Given the description of an element on the screen output the (x, y) to click on. 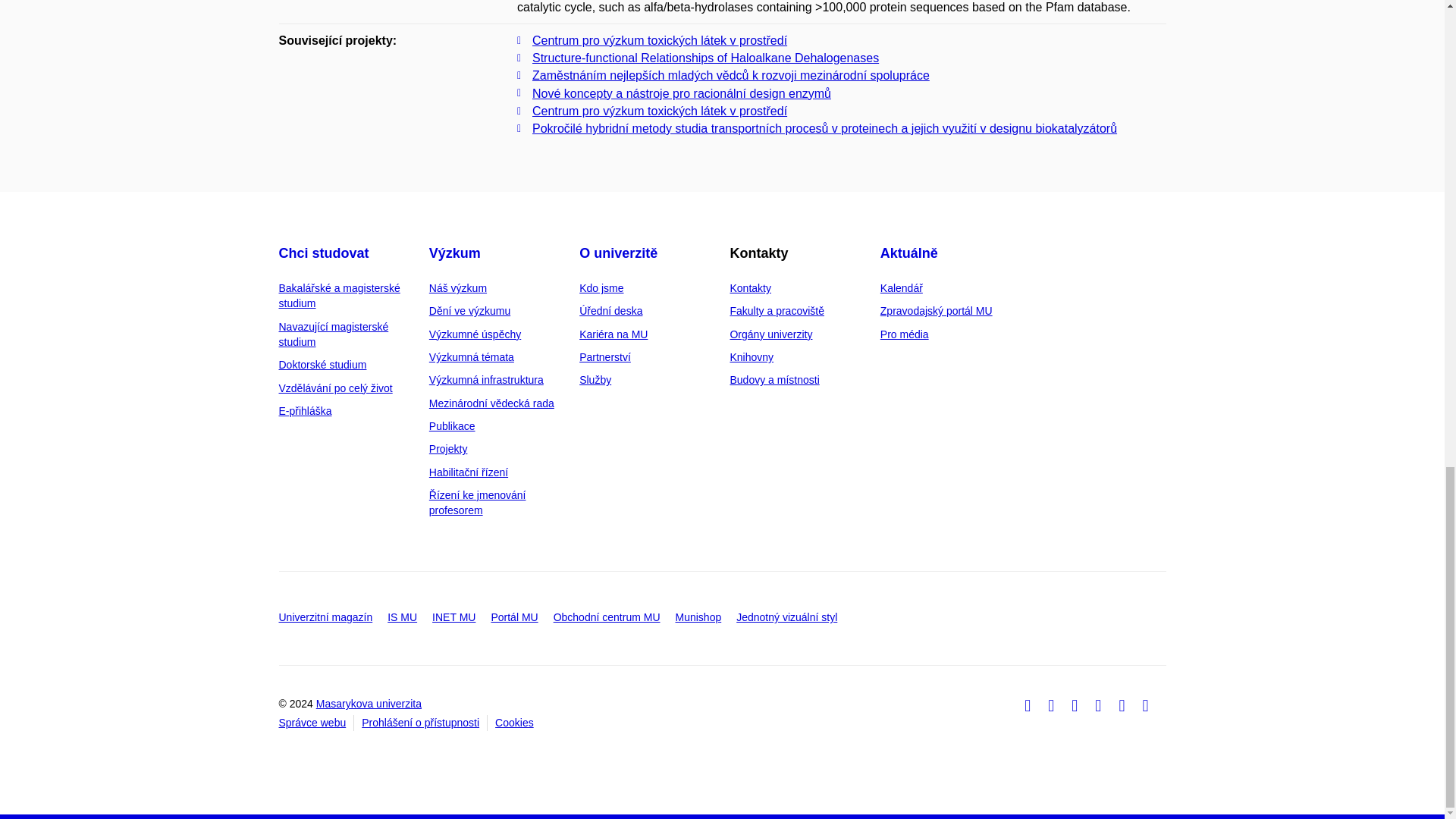
Chci studovat (324, 253)
Publikace (452, 426)
Projekty (448, 449)
